Given the description of an element on the screen output the (x, y) to click on. 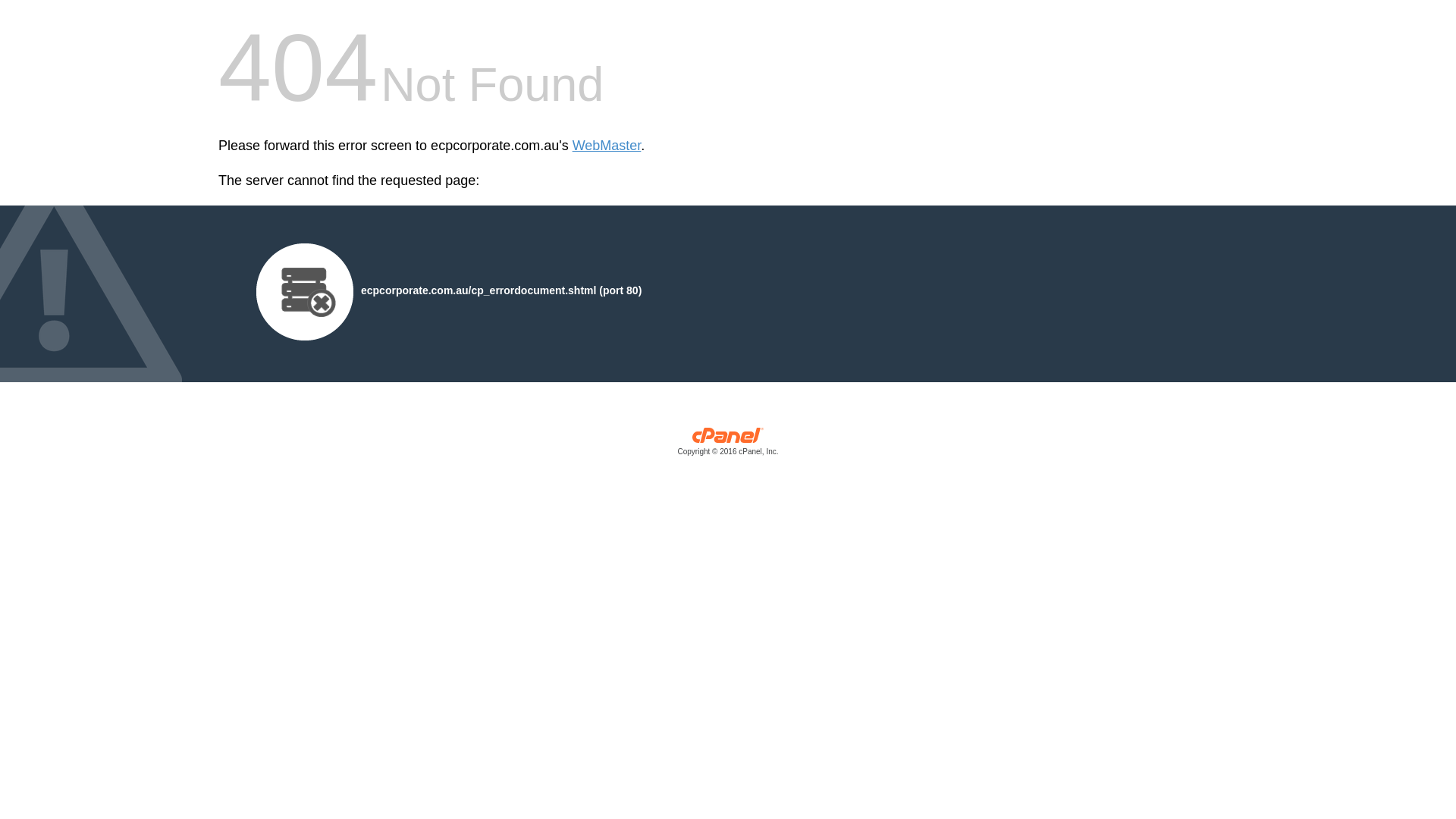
WebMaster Element type: text (606, 145)
